Given the description of an element on the screen output the (x, y) to click on. 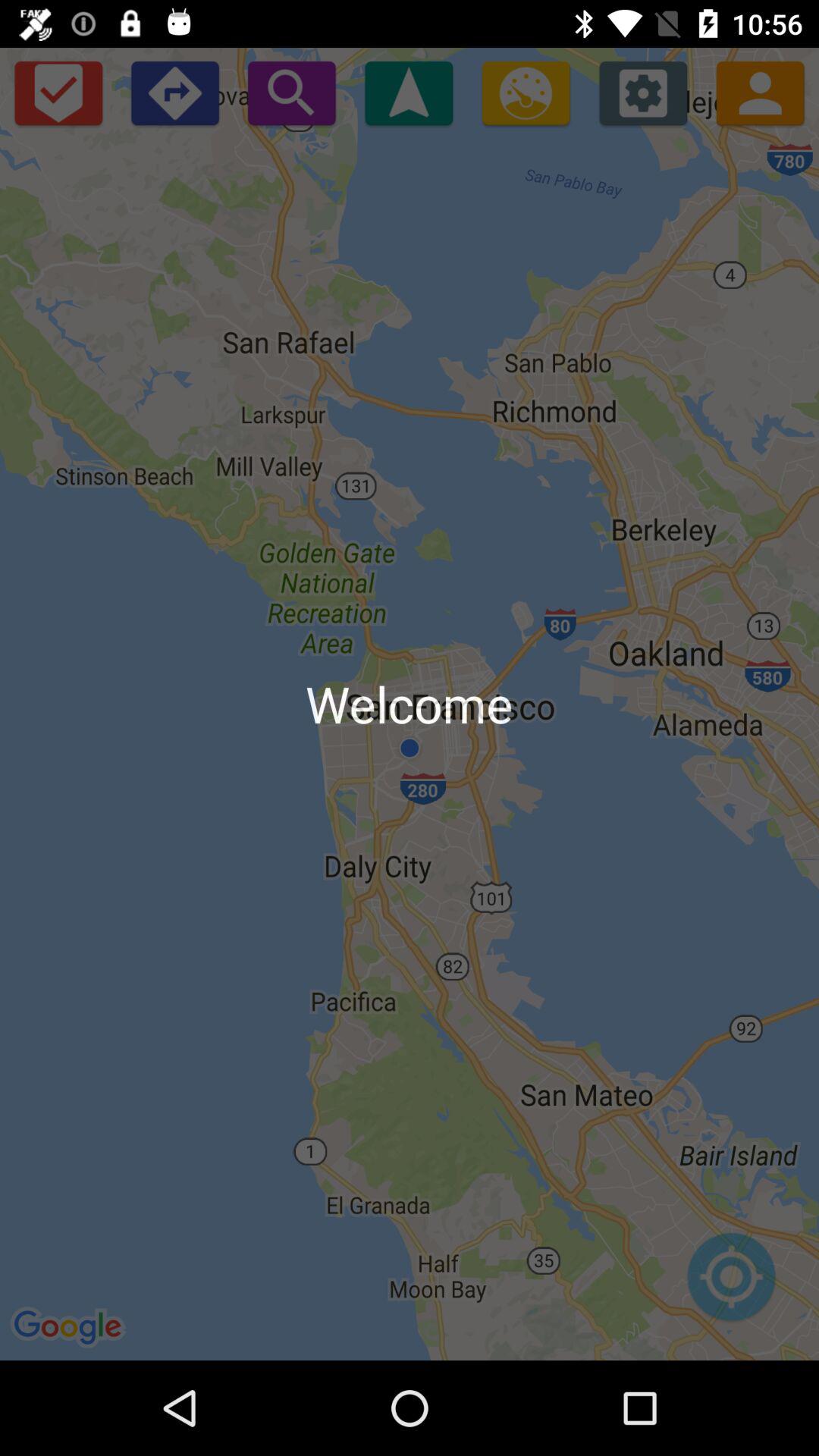
launch app above the welcome (525, 92)
